Given the description of an element on the screen output the (x, y) to click on. 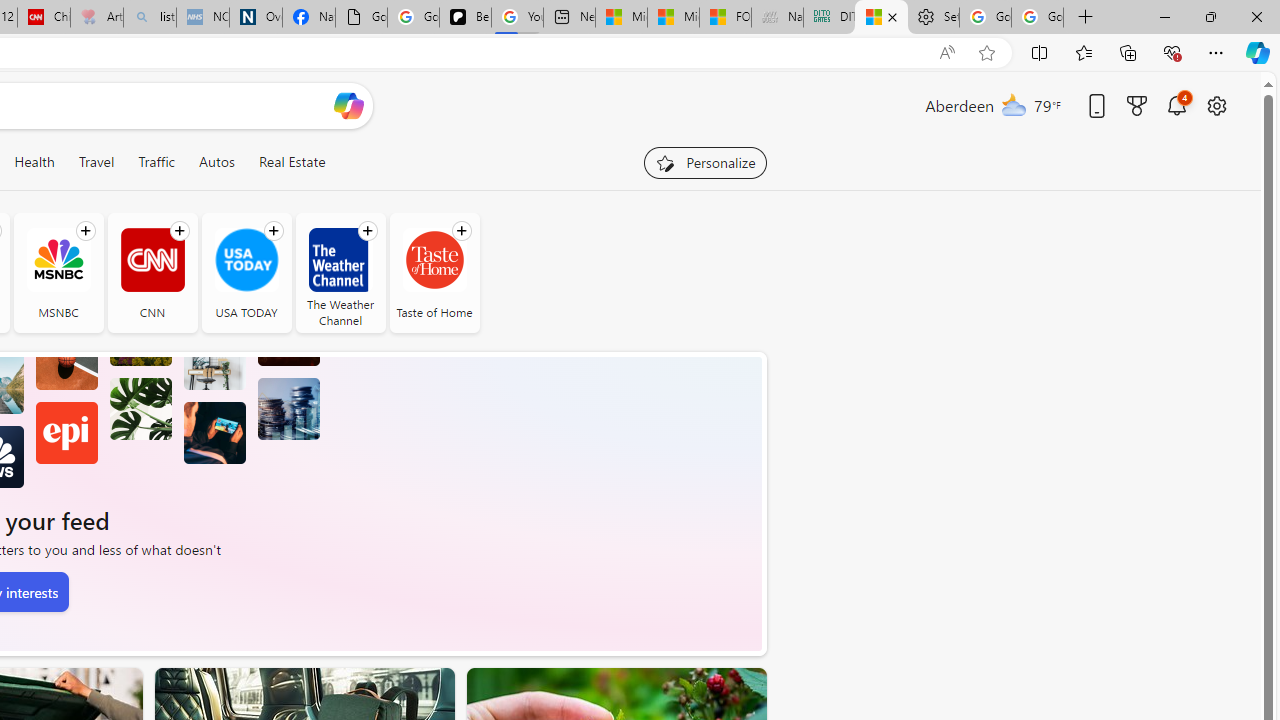
The Weather Channel (340, 272)
Travel (95, 161)
Hide this story (706, 691)
MSNBC (57, 260)
Arthritis: Ask Health Professionals - Sleeping (96, 17)
Mostly cloudy (1014, 104)
